Given the description of an element on the screen output the (x, y) to click on. 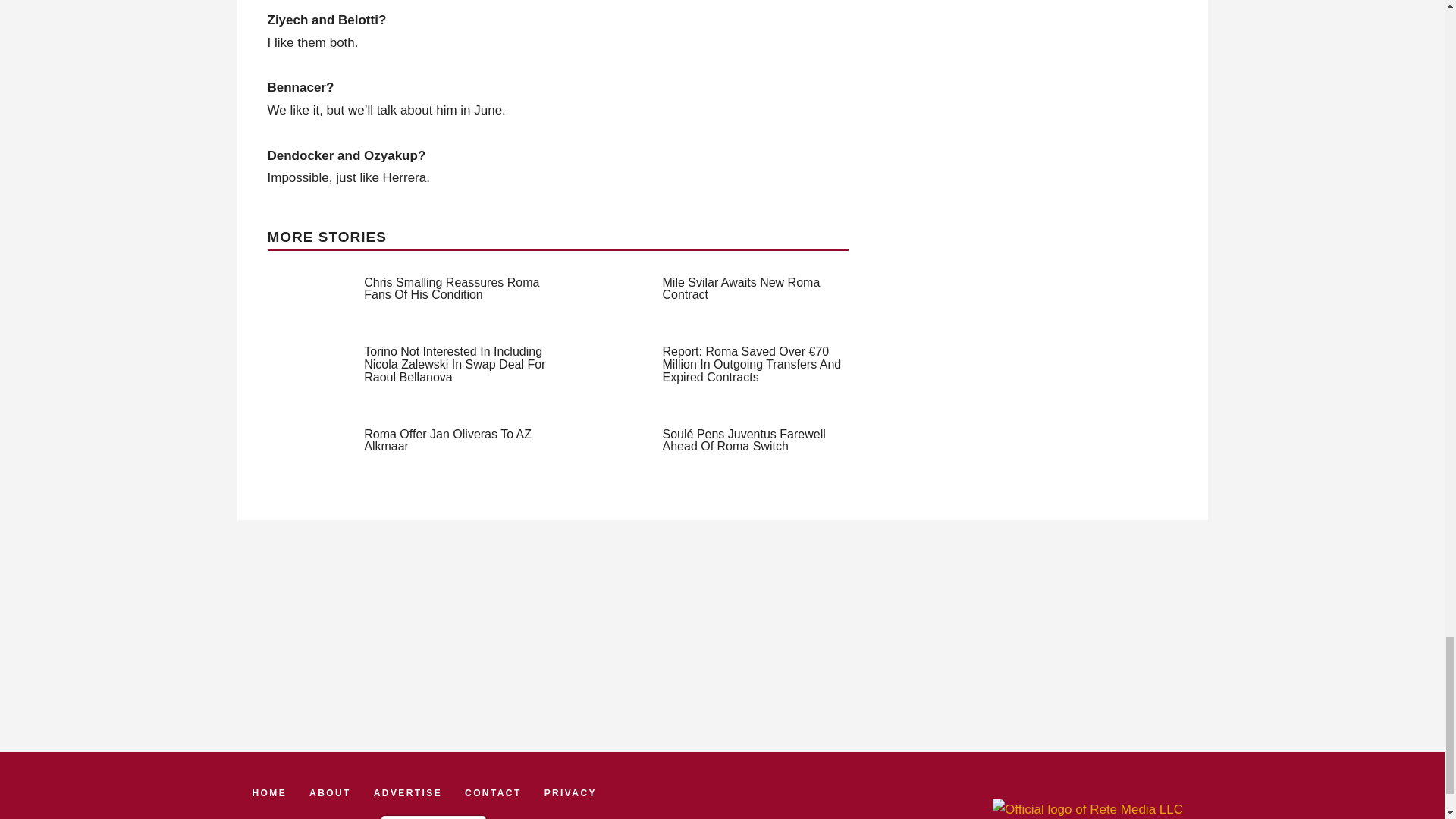
Mile Svilar Awaits New Roma Contract (741, 289)
HOME (268, 793)
Roma Offer Jan Oliveras To AZ Alkmaar (447, 440)
CONTACT (492, 793)
ADVERTISE (408, 793)
Chris Smalling Reassures Roma Fans Of His Condition (451, 289)
PRIVACY (570, 793)
ABOUT (329, 793)
